Given the description of an element on the screen output the (x, y) to click on. 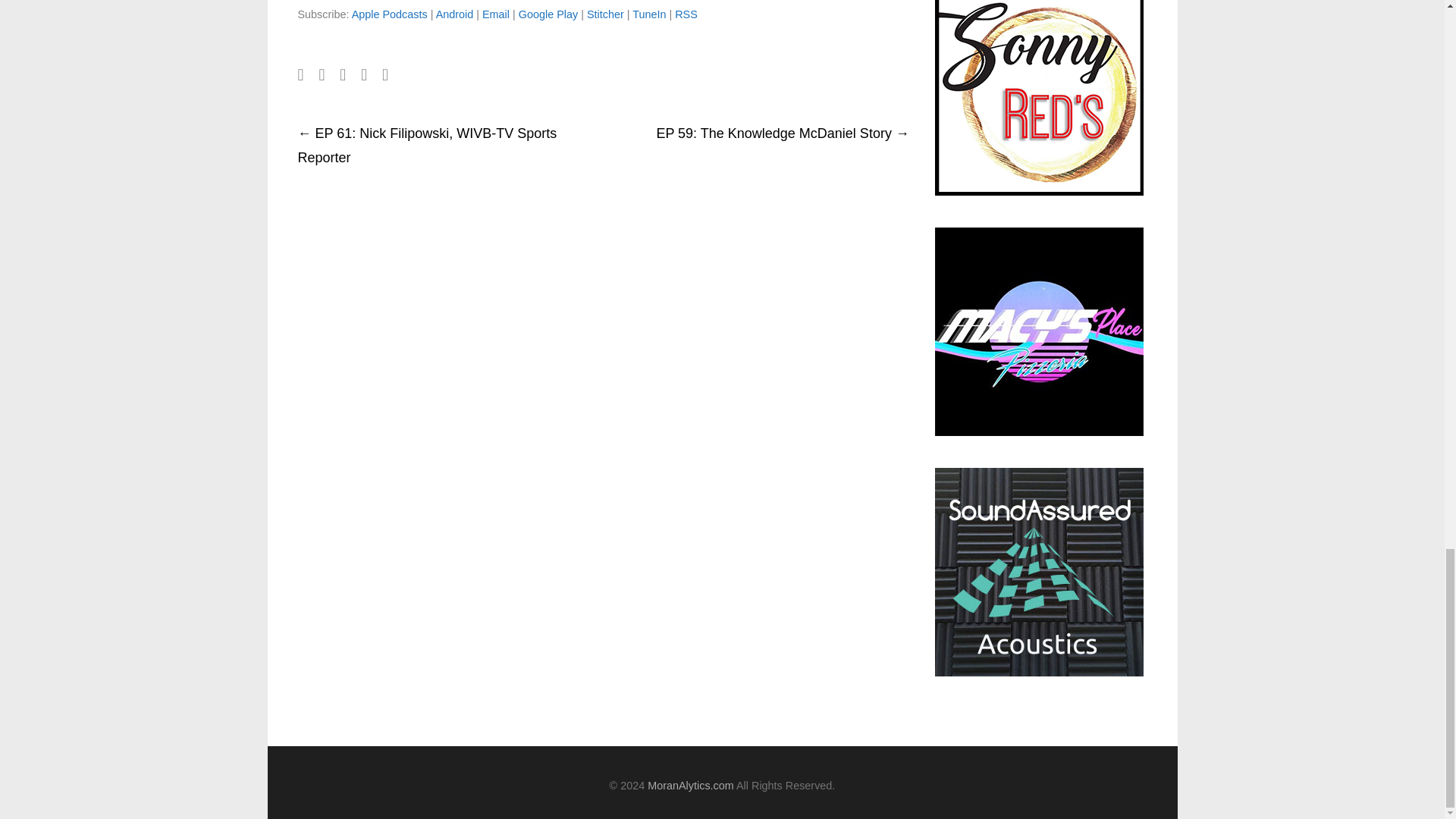
Subscribe on Android (454, 14)
Share on Pinterest (384, 74)
RSS (686, 14)
Apple Podcasts (390, 14)
Subscribe on Stitcher (605, 14)
Share on Facebook (299, 74)
TuneIn (648, 14)
Google Play (548, 14)
Subscribe on Google Play (548, 14)
Android (454, 14)
Email (495, 14)
Subscribe by Email (495, 14)
Subscribe via RSS (686, 14)
Subscribe on Apple Podcasts (390, 14)
Stitcher (605, 14)
